Given the description of an element on the screen output the (x, y) to click on. 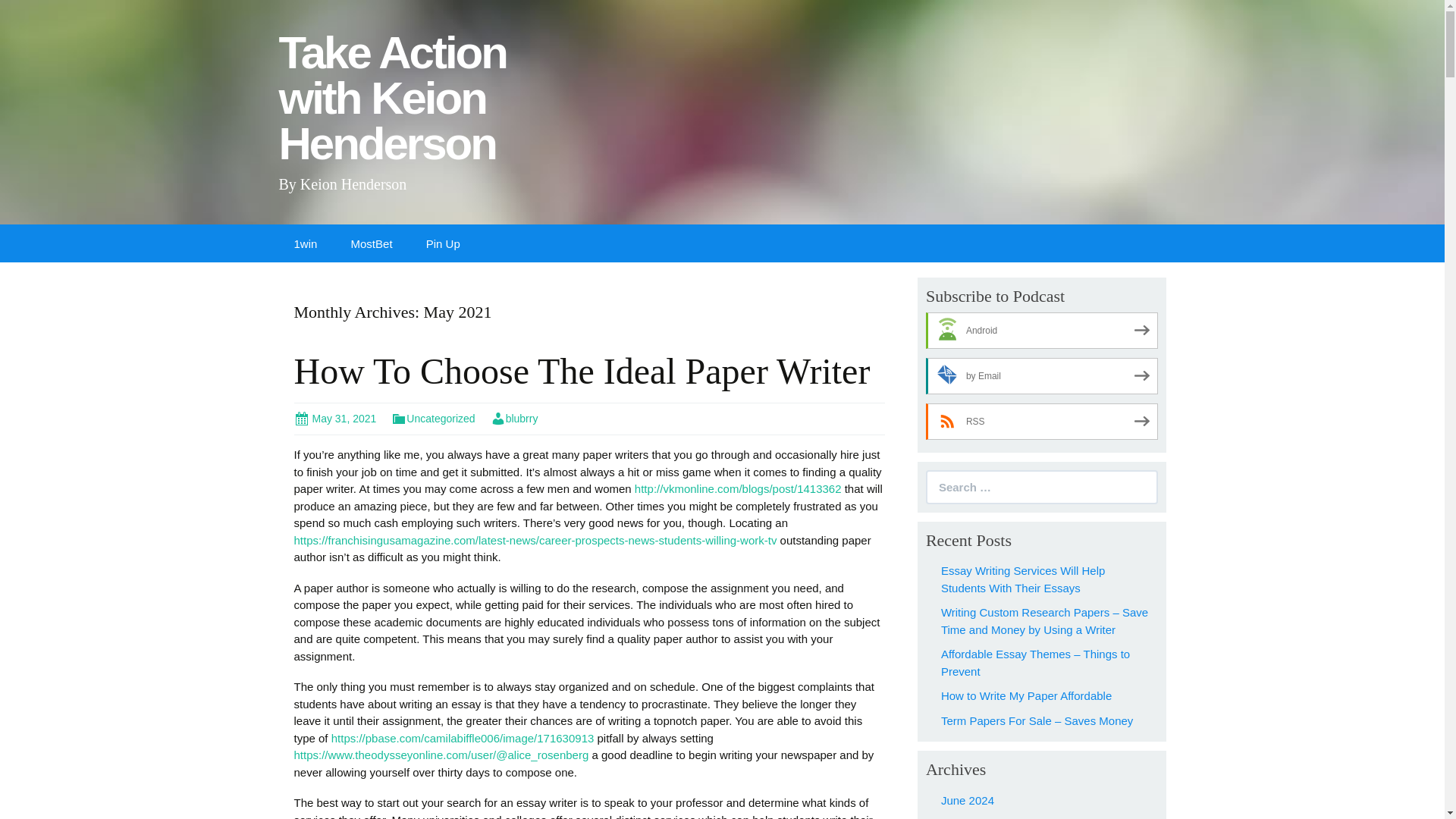
How To Choose The Ideal Paper Writer (582, 371)
blubrry (514, 418)
Pin Up (435, 104)
Skip to content (443, 243)
MostBet (435, 104)
1win (371, 243)
Skip to content (306, 243)
Permalink to How To Choose The Ideal Paper Writer (514, 418)
May 31, 2021 (335, 418)
Uncategorized (335, 418)
